Given the description of an element on the screen output the (x, y) to click on. 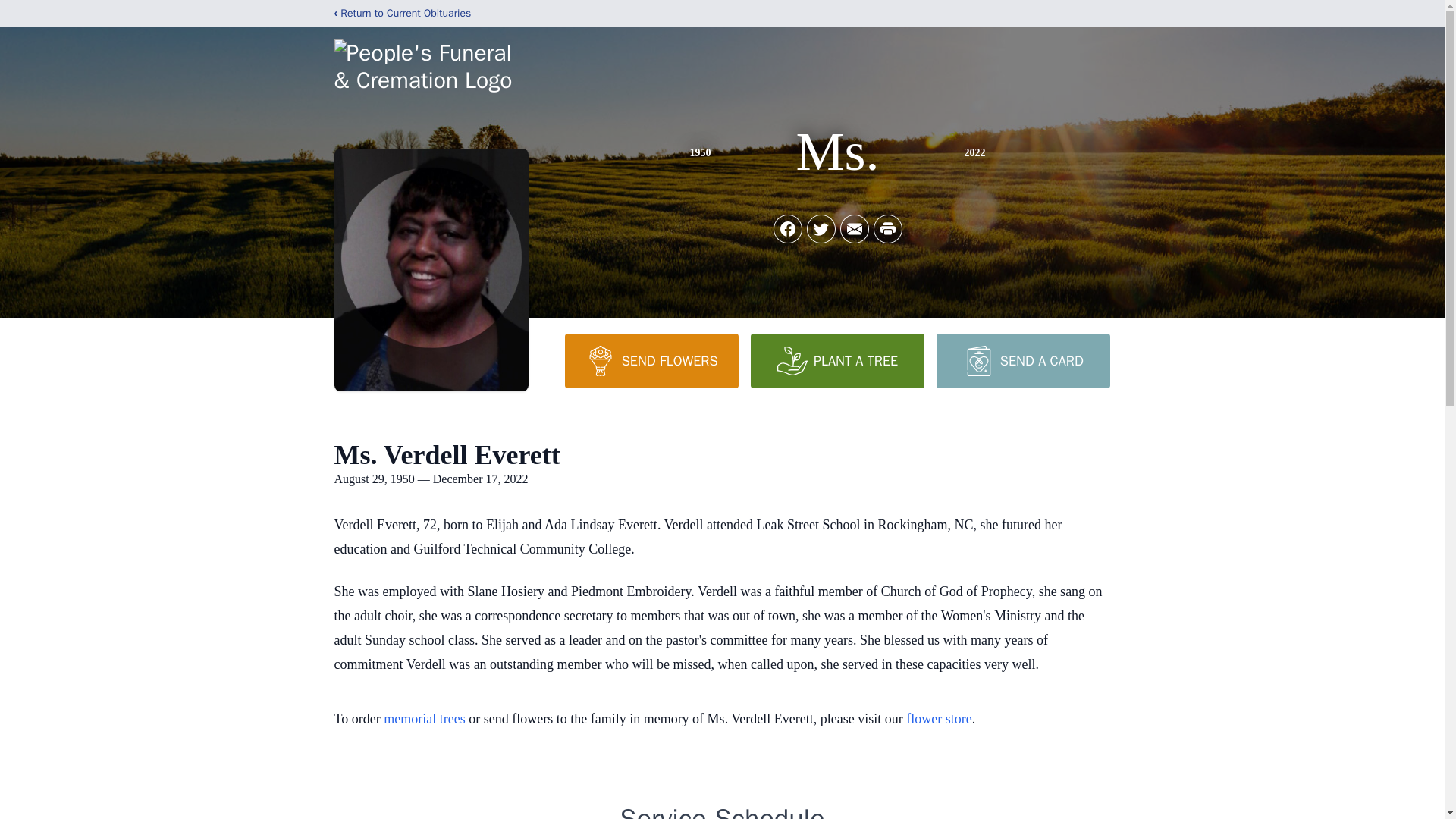
PLANT A TREE (837, 360)
memorial trees (424, 718)
SEND A CARD (1022, 360)
SEND FLOWERS (651, 360)
flower store (938, 718)
